Given the description of an element on the screen output the (x, y) to click on. 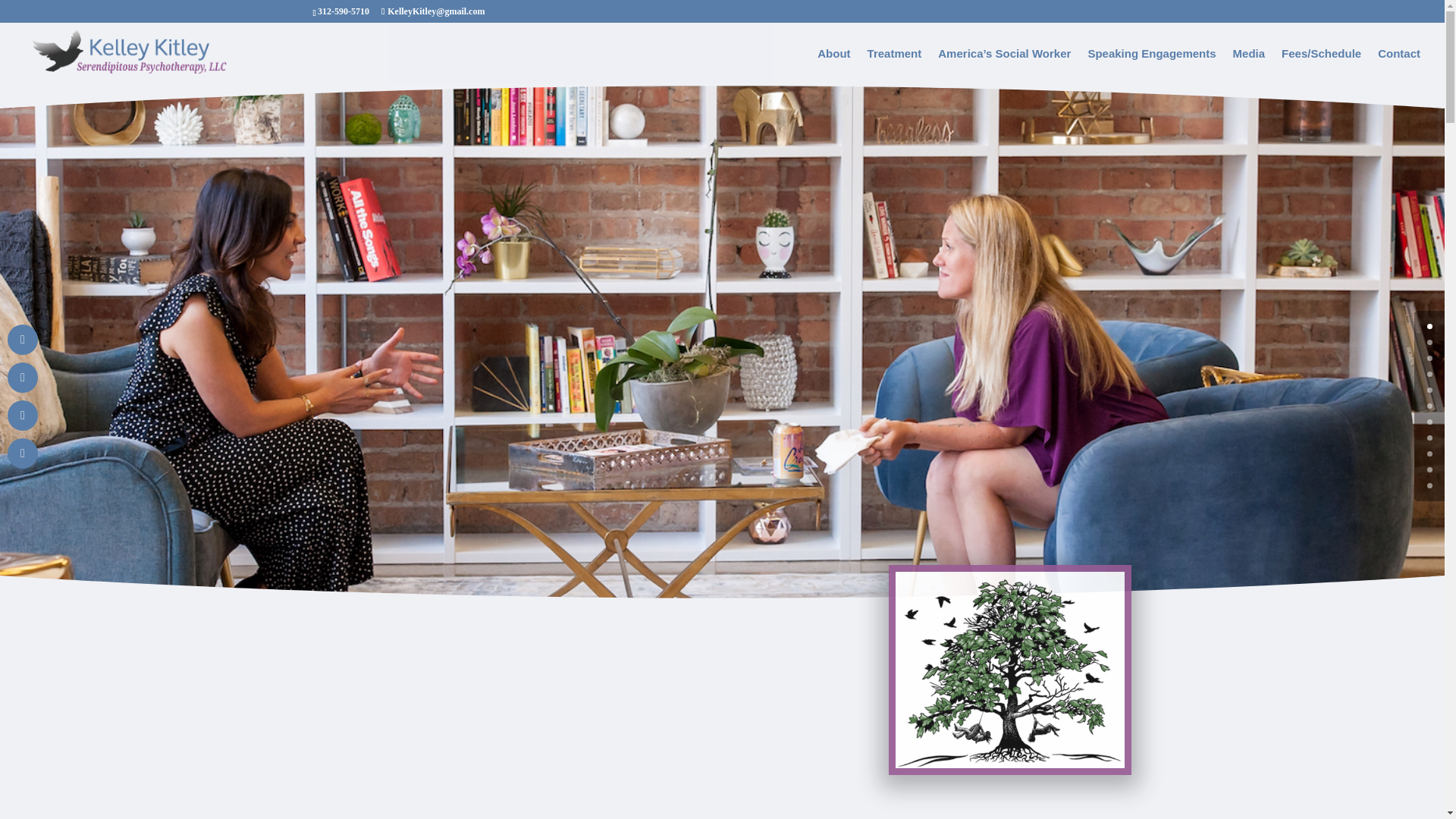
Treatment (894, 66)
Media (1249, 66)
Speaking Engagements (1151, 66)
About (833, 66)
Contact (1399, 66)
